Given the description of an element on the screen output the (x, y) to click on. 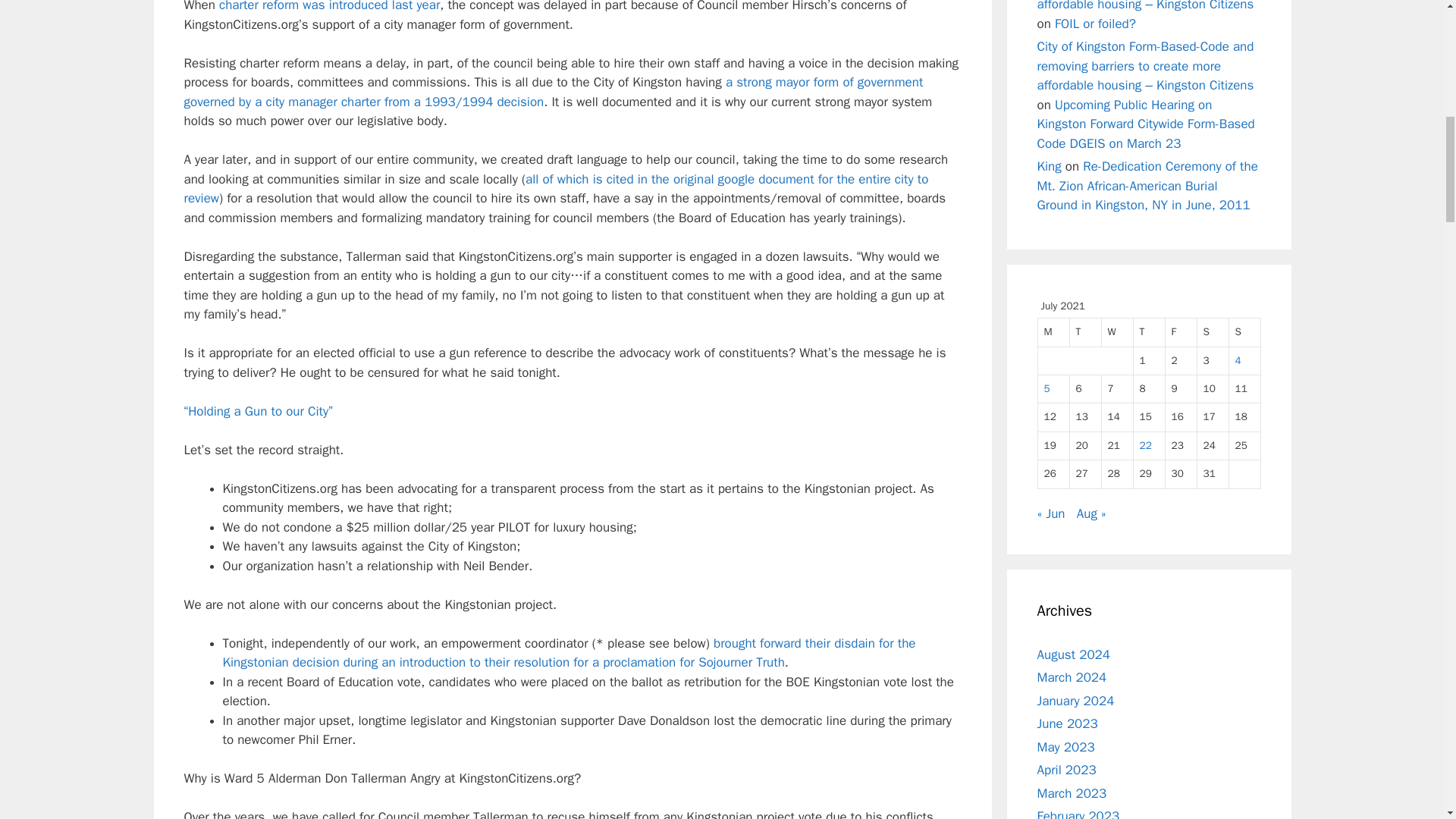
Friday (1180, 332)
Sunday (1244, 332)
Thursday (1148, 332)
Saturday (1212, 332)
Tuesday (1084, 332)
Wednesday (1116, 332)
Monday (1052, 332)
